Given the description of an element on the screen output the (x, y) to click on. 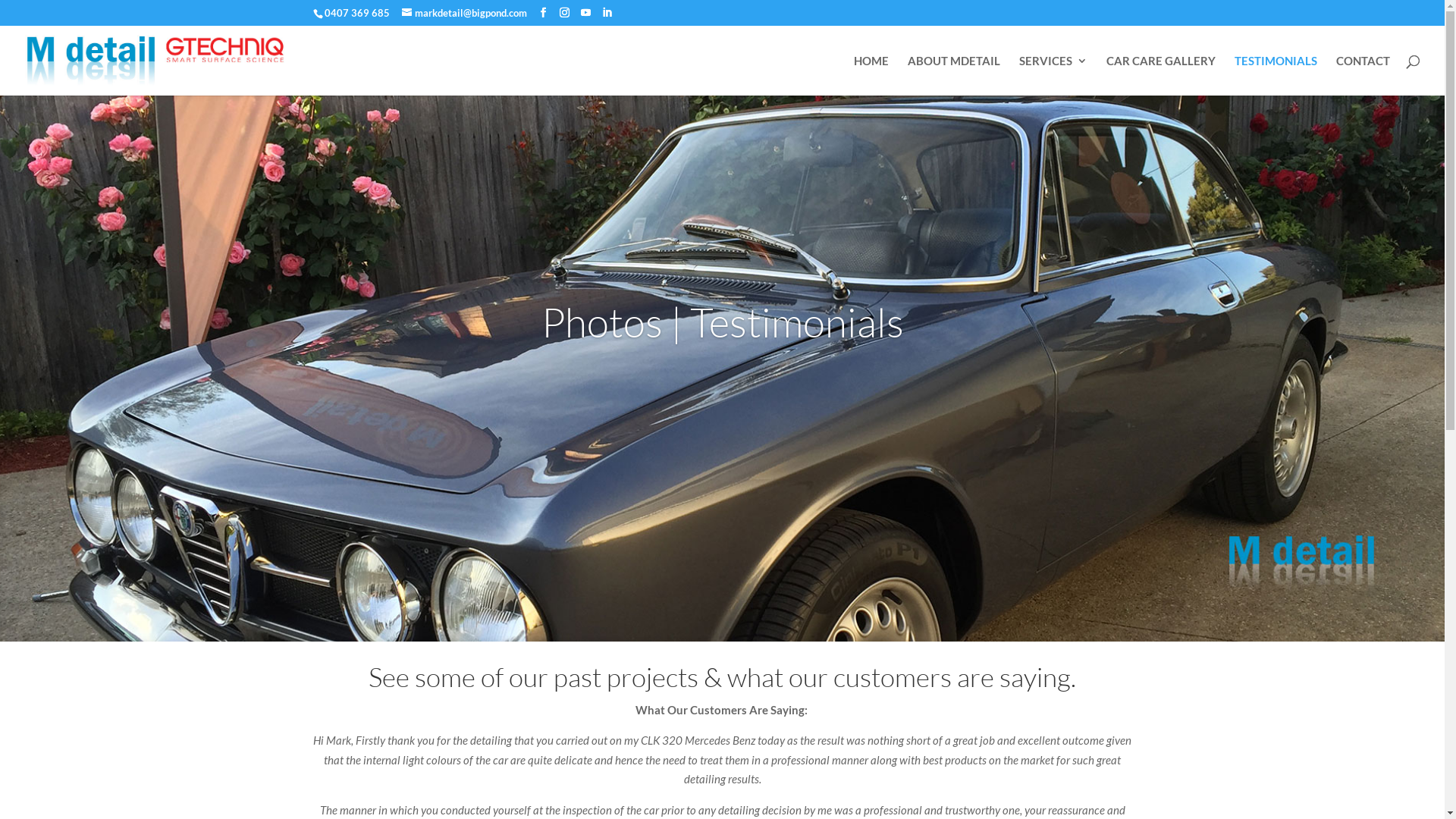
markdetail@bigpond.com Element type: text (464, 12)
HOME Element type: text (870, 74)
CONTACT Element type: text (1363, 74)
SERVICES Element type: text (1053, 74)
ABOUT MDETAIL Element type: text (953, 74)
TESTIMONIALS Element type: text (1275, 74)
CAR CARE GALLERY Element type: text (1160, 74)
